Given the description of an element on the screen output the (x, y) to click on. 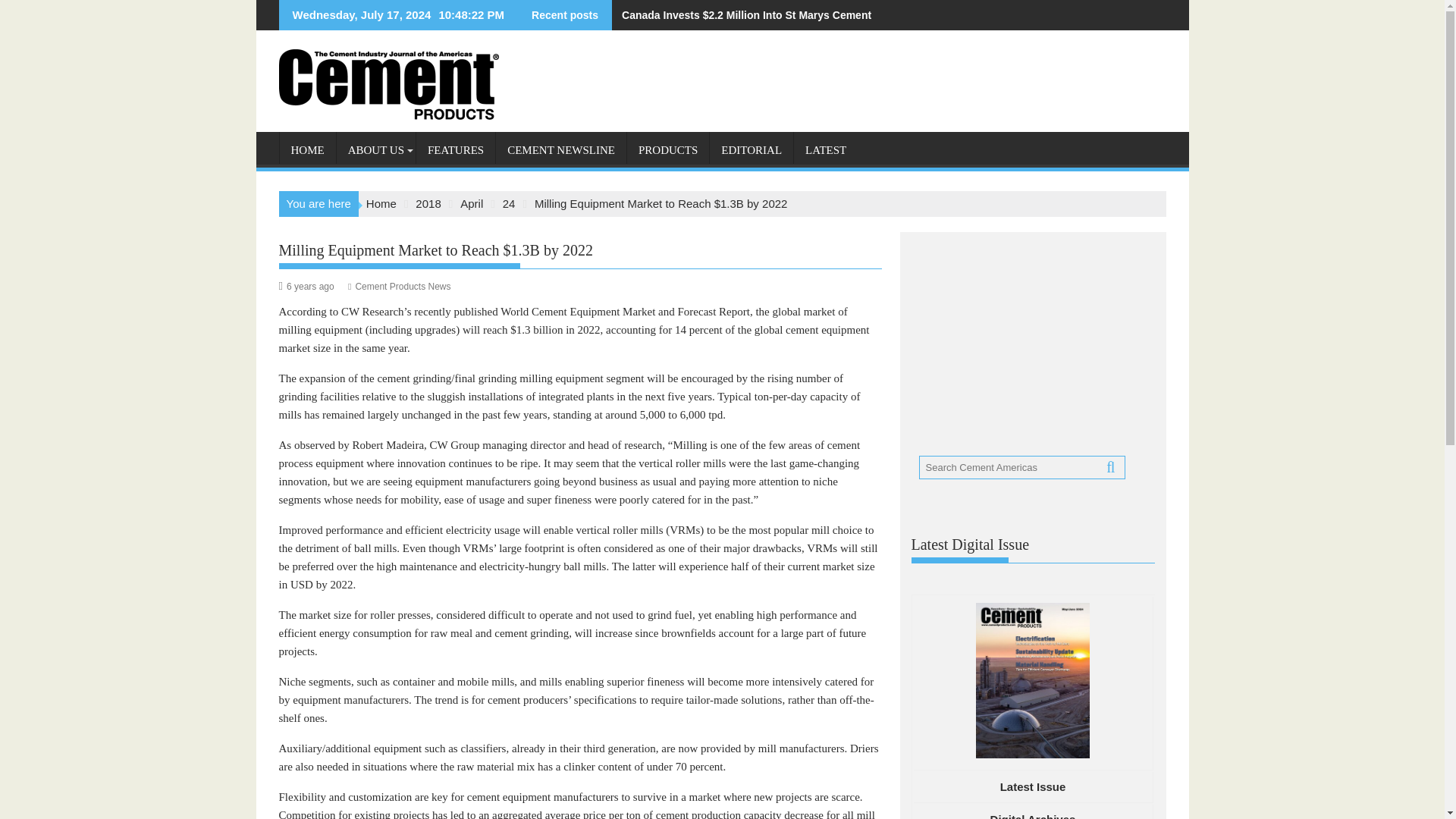
3rd party ad content (1024, 338)
PRODUCTS (668, 149)
ABOUT US (375, 149)
LATEST (825, 149)
2018 (427, 203)
HOME (306, 149)
Cement Products News (402, 286)
6 years ago (310, 286)
April (471, 203)
CEMENT NEWSLINE (561, 149)
Home (381, 203)
FEATURES (455, 149)
24 (508, 203)
EDITORIAL (751, 149)
